Given the description of an element on the screen output the (x, y) to click on. 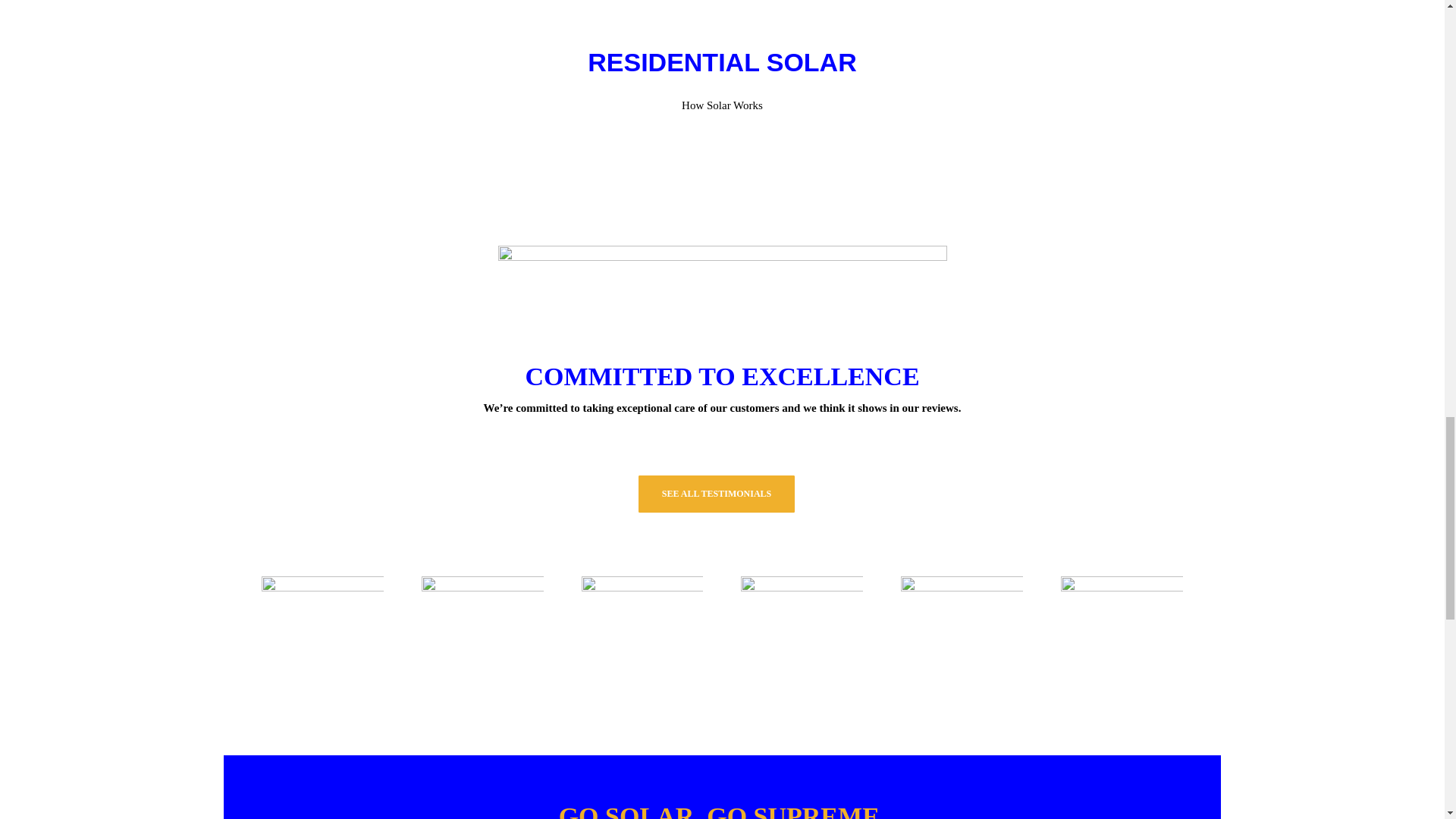
top-fresno-solar-companies (962, 637)
top-solar-companies-fresno-2024 (641, 637)
best-solar-companies-fresno (802, 637)
TOP-SOLAR-COMPANIES-PALM-DESERT (482, 637)
TOP-SOLAR-COMPANIES-FRESNO (323, 637)
bbb (1121, 637)
